Given the description of an element on the screen output the (x, y) to click on. 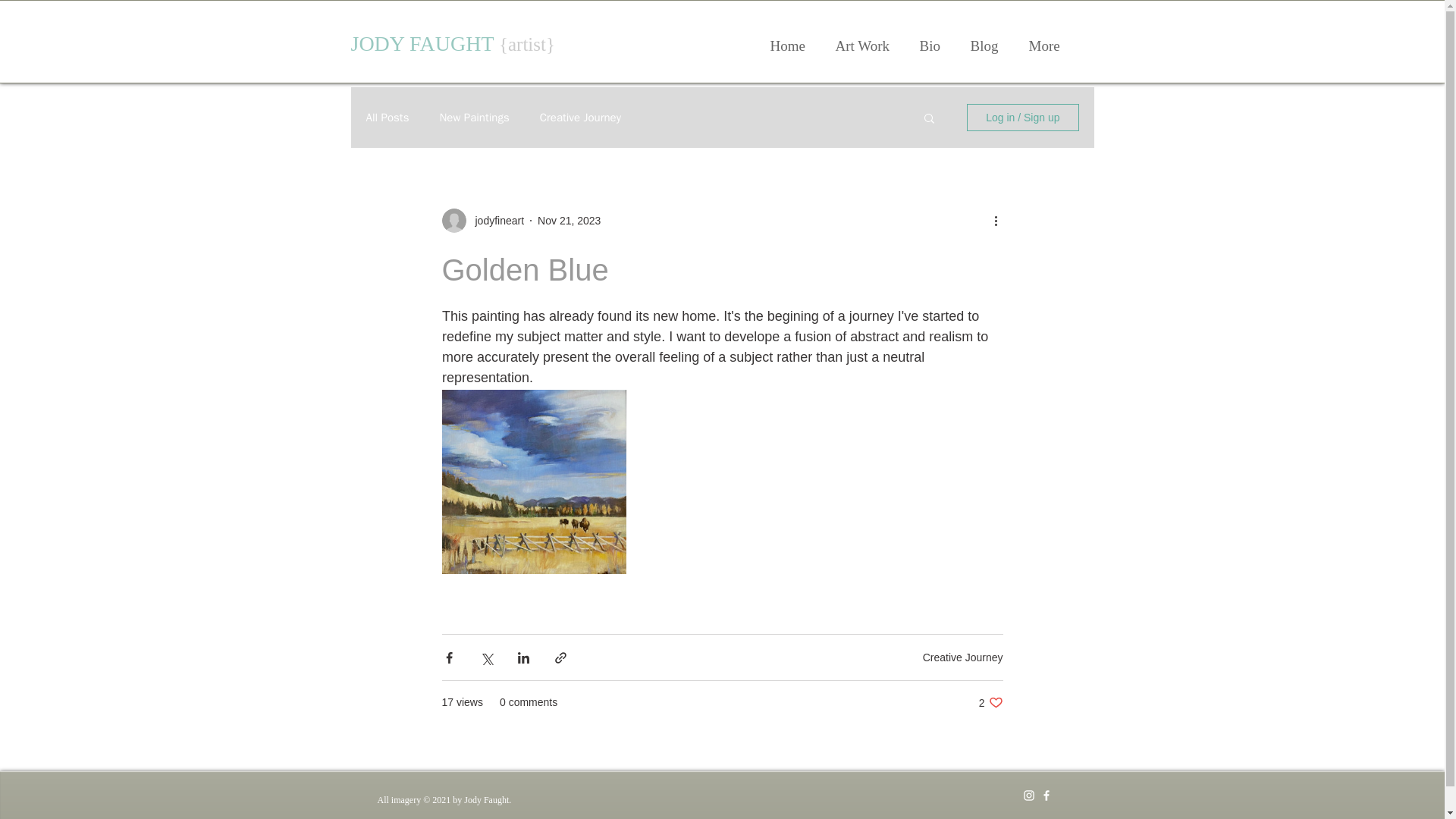
Art Work (862, 45)
jodyfineart (990, 702)
Creative Journey (494, 220)
Bio (963, 656)
All Posts (929, 45)
JODY FAUGHT (387, 117)
New Paintings (424, 43)
Home (473, 117)
Nov 21, 2023 (788, 45)
